Given the description of an element on the screen output the (x, y) to click on. 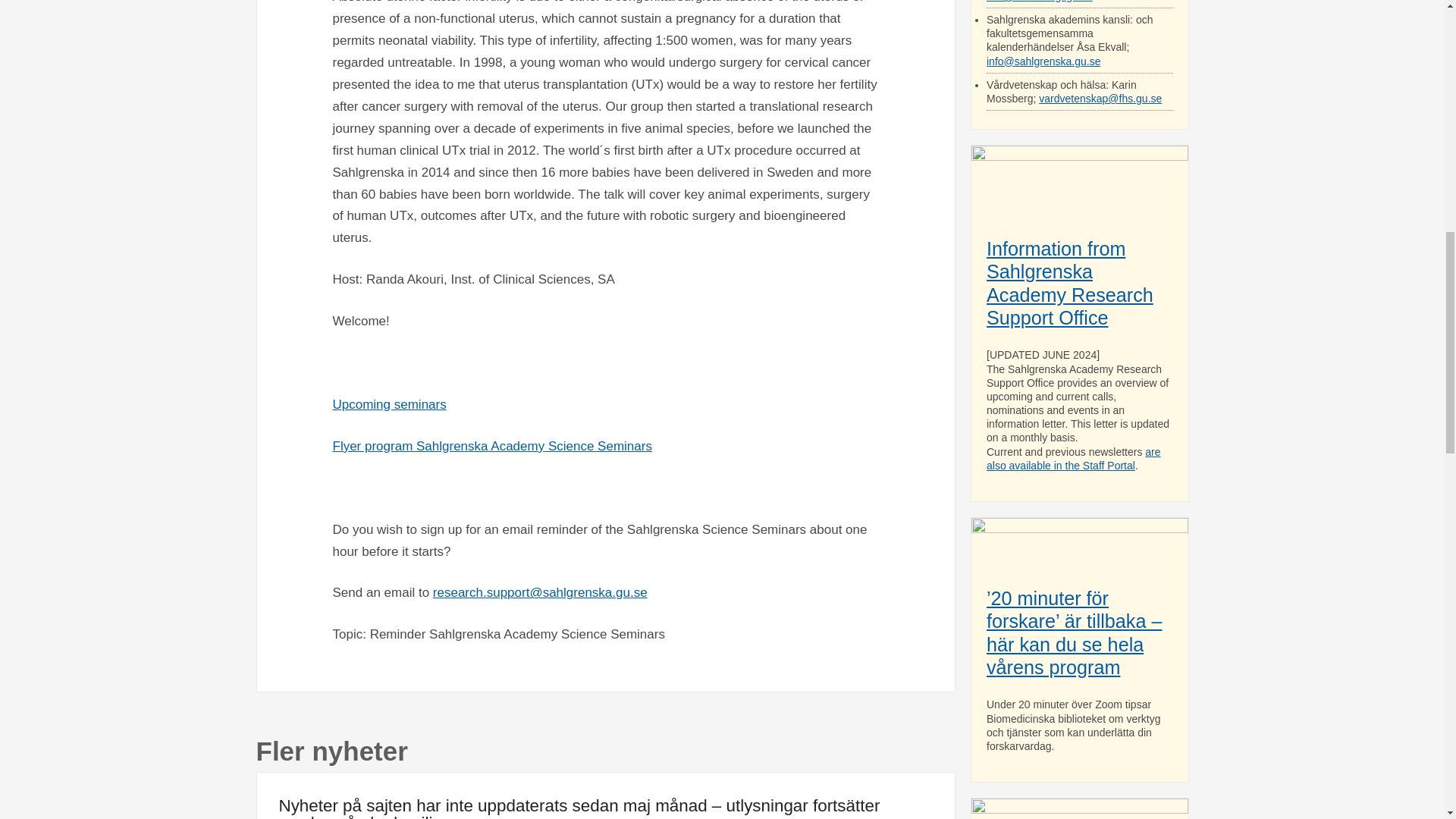
Upcoming seminars (388, 404)
are also available in the Staff Portal (1073, 458)
Flyer program Sahlgrenska Academy Science Seminars (490, 445)
Information from Sahlgrenska Academy Research Support Office (1070, 283)
